Given the description of an element on the screen output the (x, y) to click on. 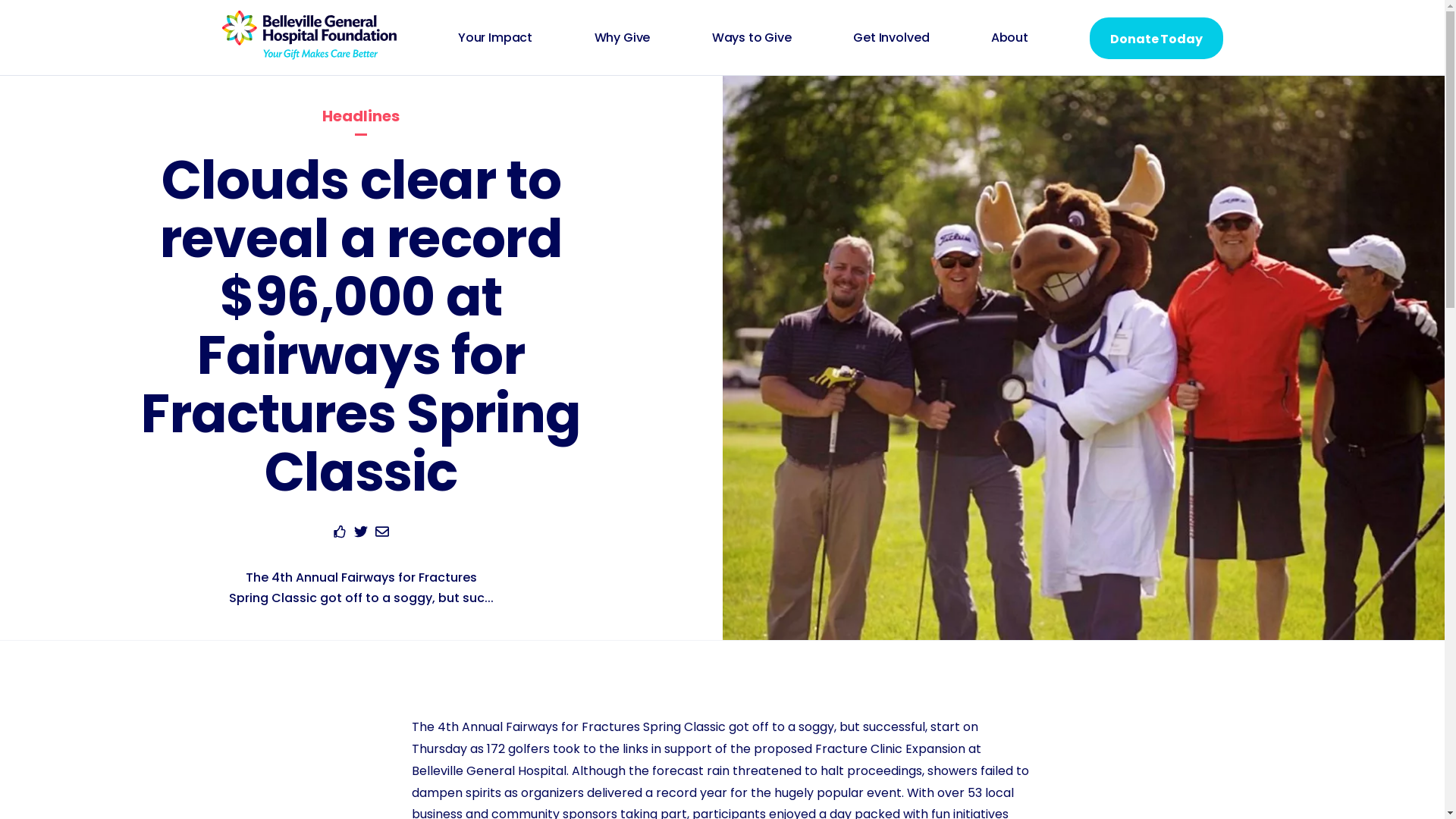
Why Give Element type: text (622, 37)
Twitter Element type: hover (360, 533)
Belleville General Hospital Foundation logo Element type: hover (308, 54)
Donate Today Element type: text (1155, 37)
Your Impact Element type: text (495, 37)
Get Involved Element type: text (890, 37)
Ways to Give Element type: text (751, 37)
About Element type: text (1009, 37)
Email Element type: hover (382, 533)
Facebook Element type: hover (339, 533)
